Given the description of an element on the screen output the (x, y) to click on. 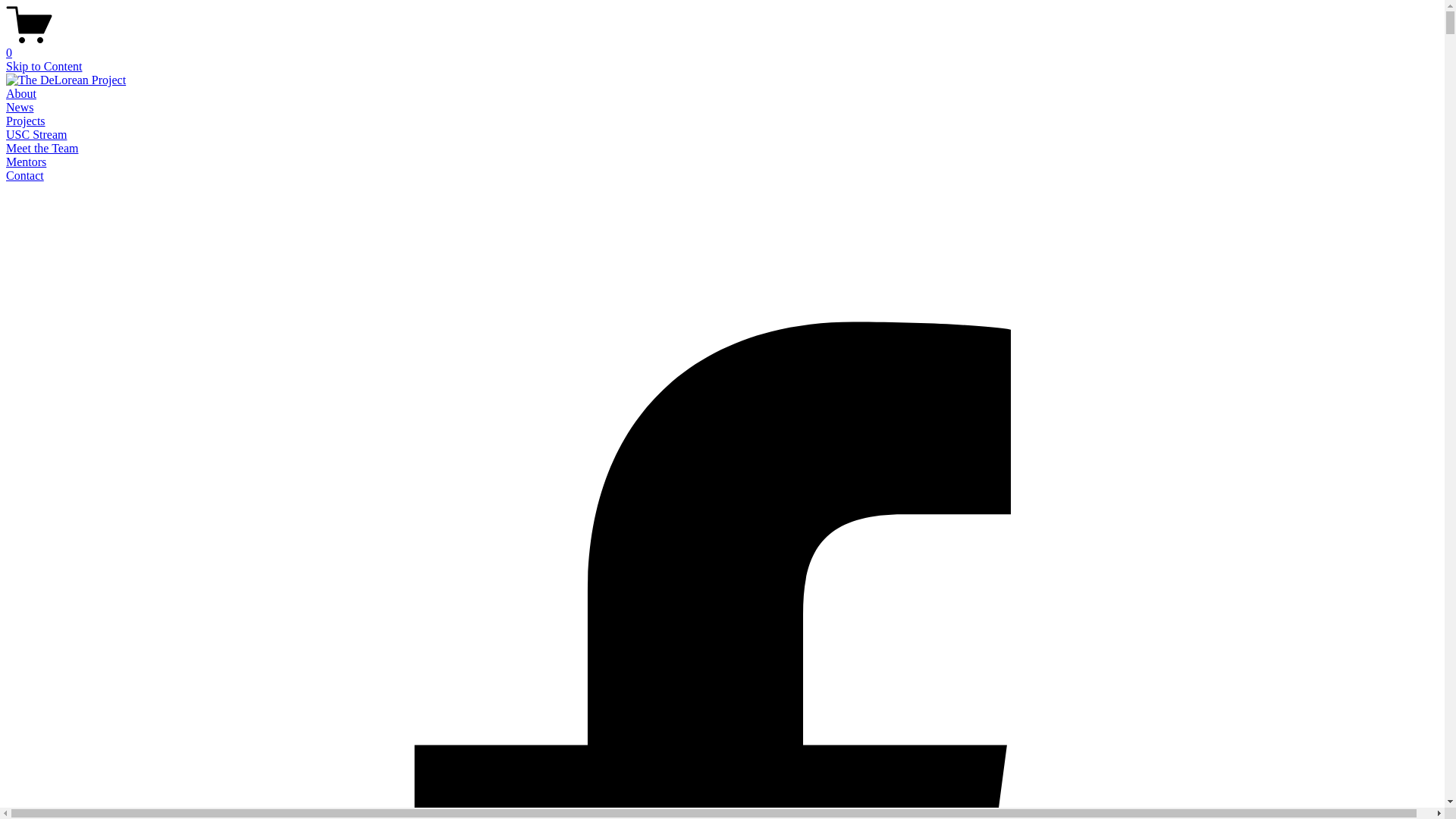
Meet the Team Element type: text (42, 147)
News Element type: text (19, 106)
Contact Element type: text (24, 175)
About Element type: text (21, 93)
0 Element type: text (722, 45)
Projects Element type: text (25, 120)
Mentors Element type: text (26, 161)
USC Stream Element type: text (36, 134)
Skip to Content Element type: text (43, 65)
